Given the description of an element on the screen output the (x, y) to click on. 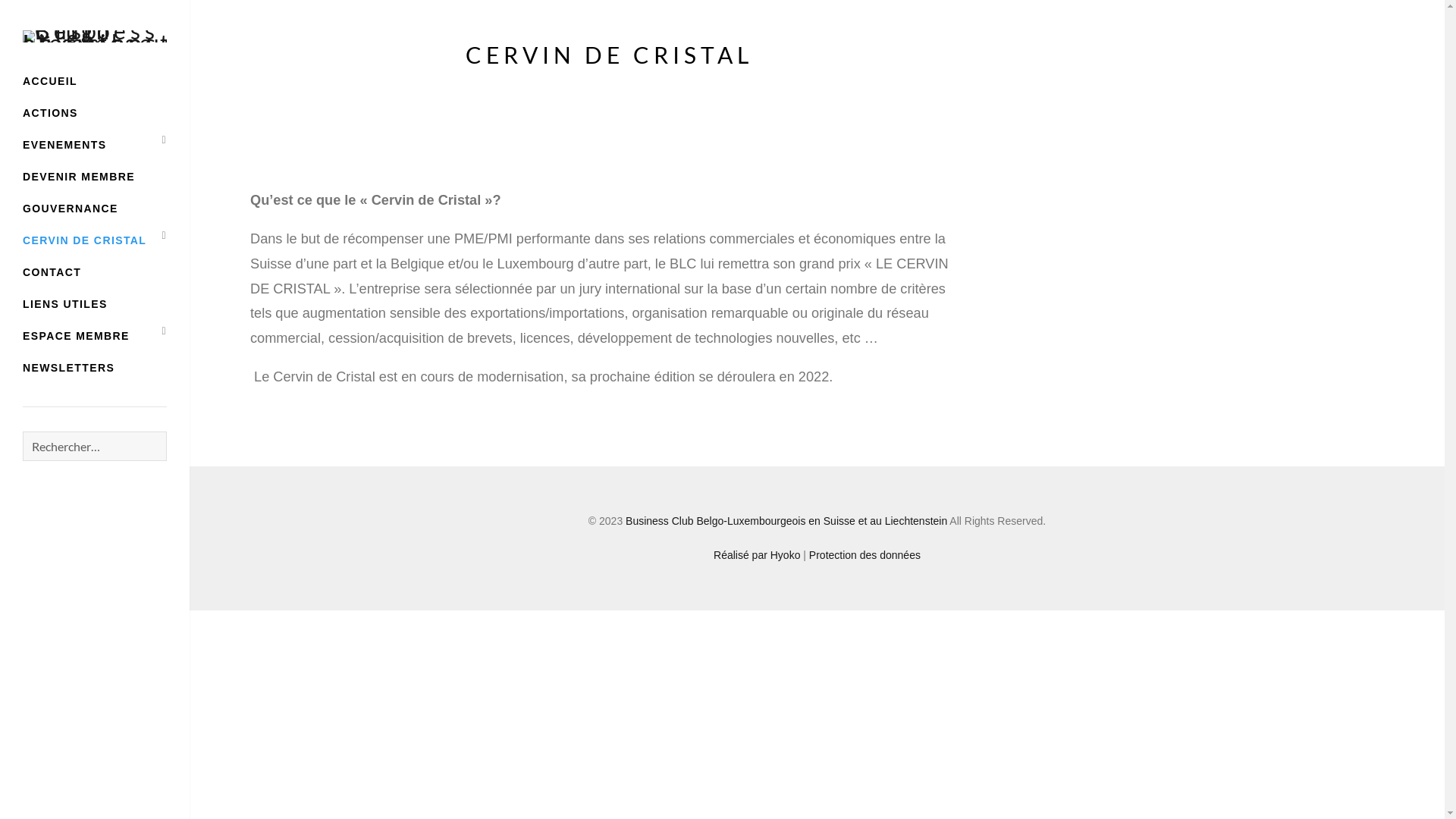
DEVENIR MEMBRE Element type: text (78, 176)
NEWSLETTERS Element type: text (68, 367)
Rechercher Element type: text (166, 431)
CONTACT Element type: text (51, 272)
GOUVERNANCE Element type: text (70, 208)
LIENS UTILES Element type: text (64, 304)
EVENEMENTS Element type: text (69, 144)
CERVIN DE CRISTAL Element type: text (89, 240)
ESPACE MEMBRE Element type: text (81, 335)
ACCUEIL Element type: text (49, 81)
ACTIONS Element type: text (50, 112)
